Given the description of an element on the screen output the (x, y) to click on. 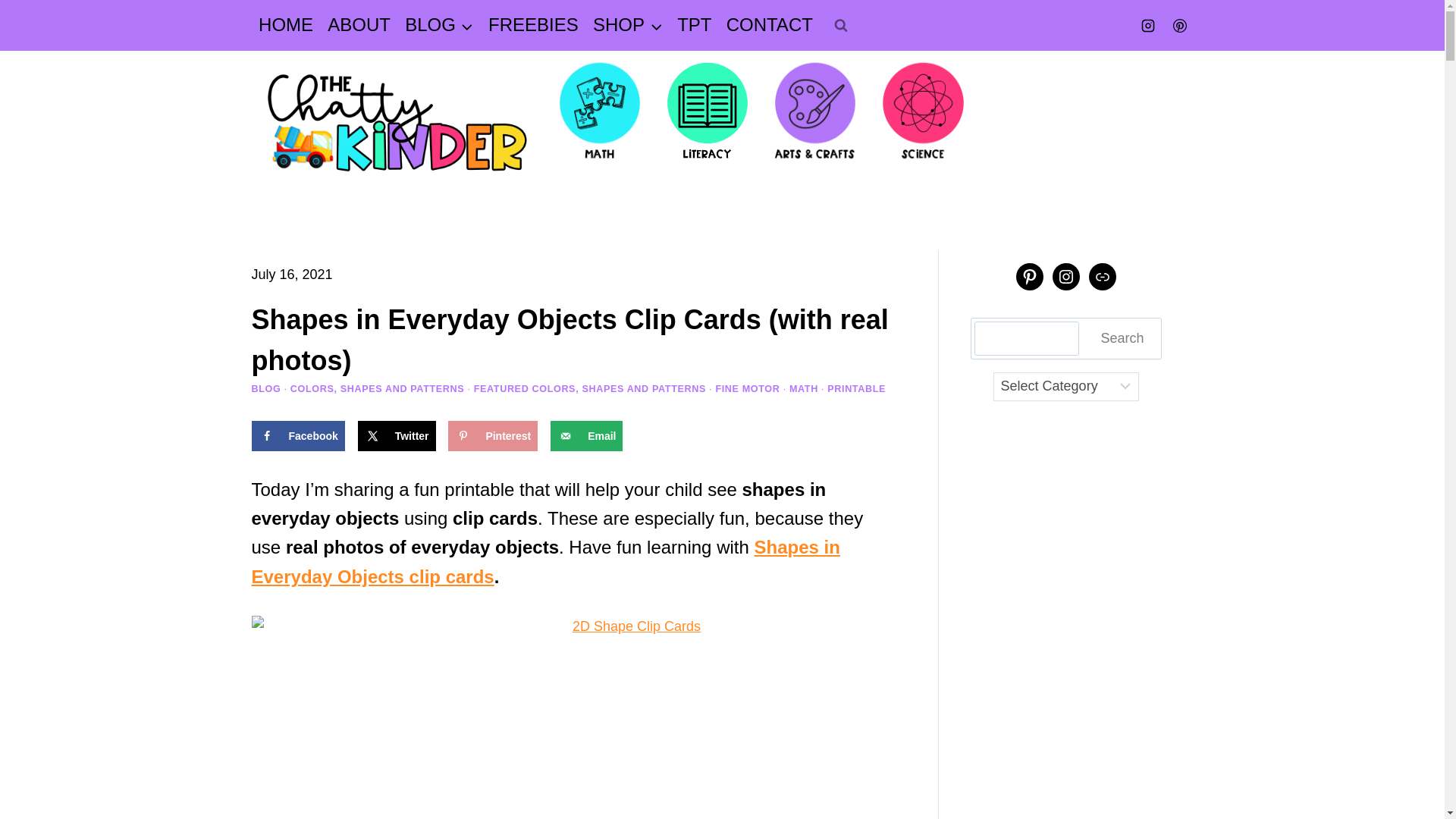
CONTACT (769, 25)
Email (586, 435)
BLOG (439, 25)
FEATURED COLORS, SHAPES AND PATTERNS (590, 388)
Twitter (396, 435)
COLORS, SHAPES AND PATTERNS (376, 388)
Send over email (586, 435)
TPT (694, 25)
PRINTABLE (856, 388)
MATH (803, 388)
